Given the description of an element on the screen output the (x, y) to click on. 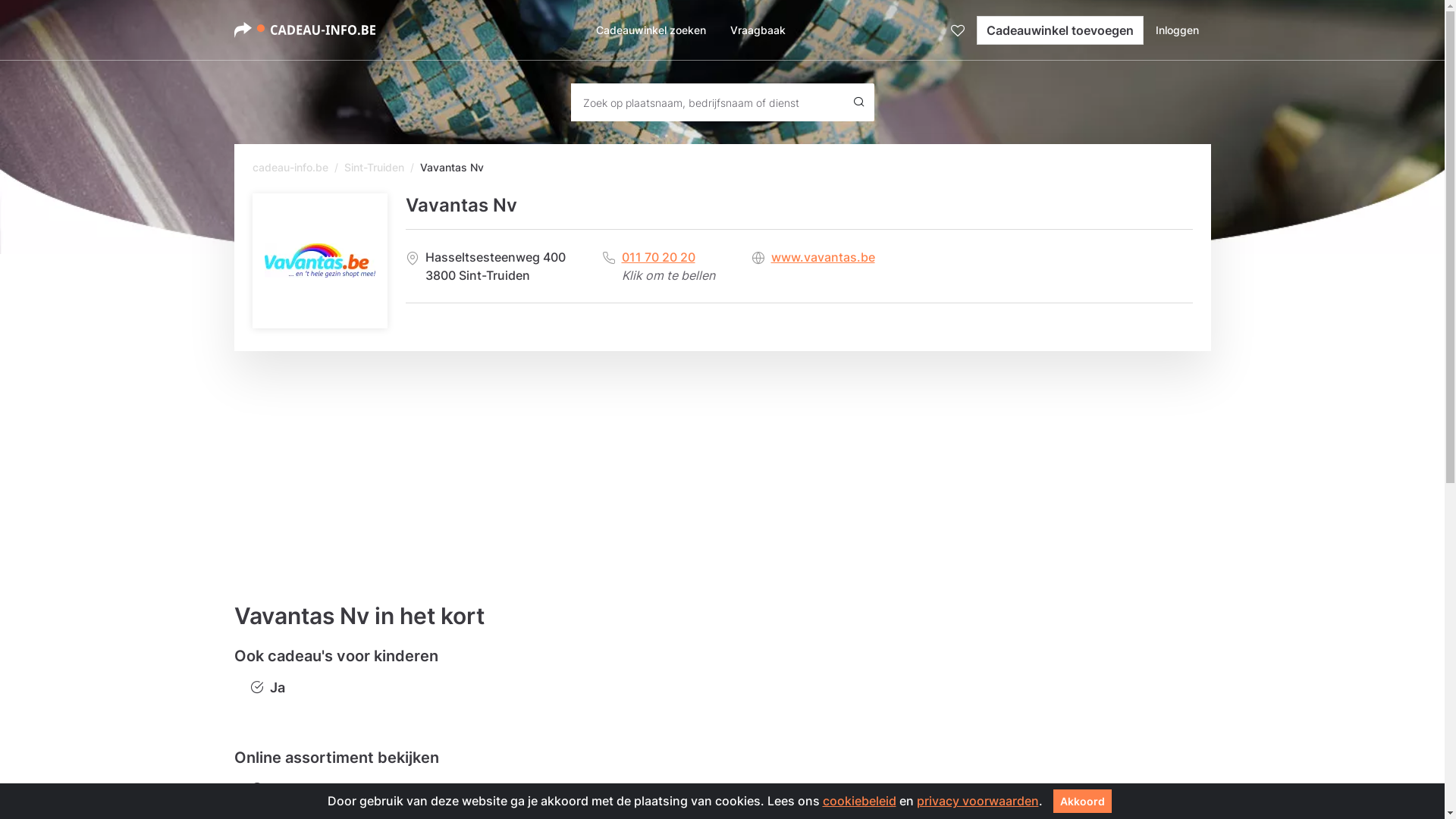
www.vavantas.be Element type: text (822, 256)
Cadeauwinkel zoeken Element type: text (650, 29)
Akkoord Element type: text (1081, 800)
011 70 20 20 Element type: text (668, 256)
cookiebeleid Element type: text (858, 800)
Vavantas Nv Element type: hover (318, 260)
Advertisement Element type: hover (688, 457)
Sint-Truiden Element type: text (374, 166)
Cadeauwinkel toevoegen Element type: text (1059, 29)
privacy voorwaarden Element type: text (977, 800)
Vraagbaak Element type: text (757, 29)
Inloggen Element type: text (1177, 29)
cadeau-info.be Element type: text (289, 166)
